Given the description of an element on the screen output the (x, y) to click on. 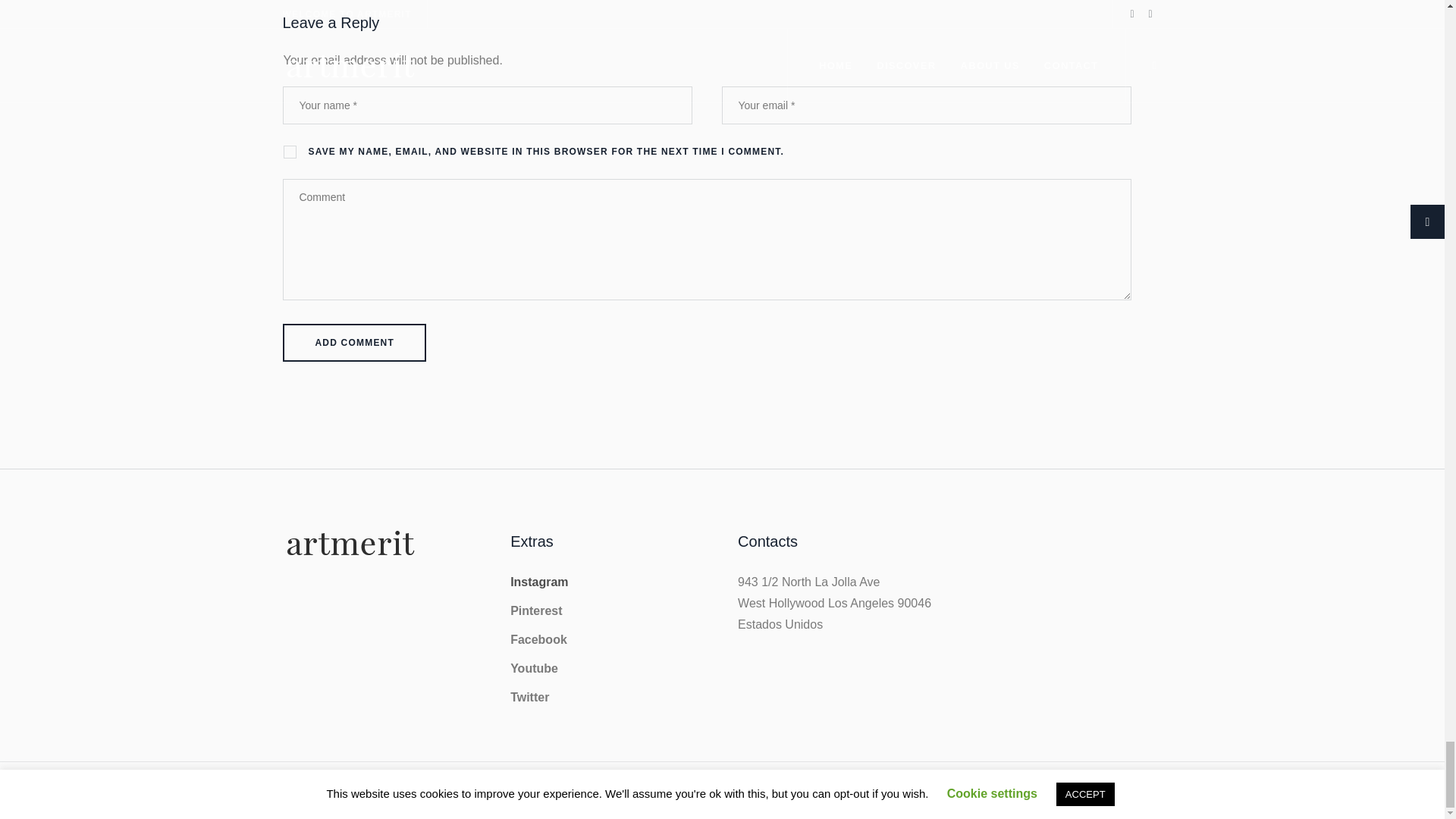
Add Comment (354, 342)
